Given the description of an element on the screen output the (x, y) to click on. 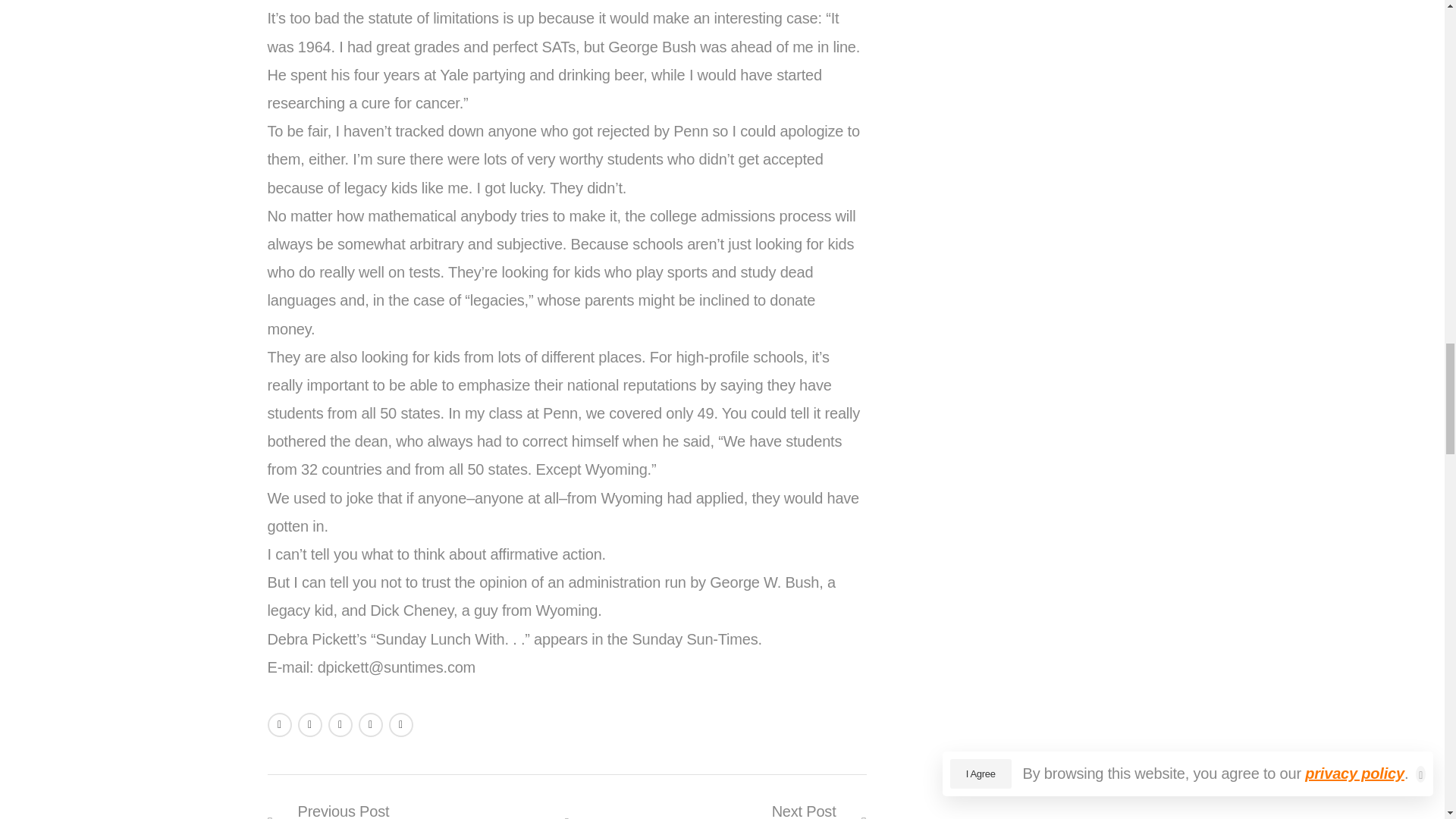
All Posts (716, 808)
Facebook (416, 808)
Twitter (566, 814)
Linkedin (278, 724)
Pinterest (309, 724)
Instagram (400, 724)
